Given the description of an element on the screen output the (x, y) to click on. 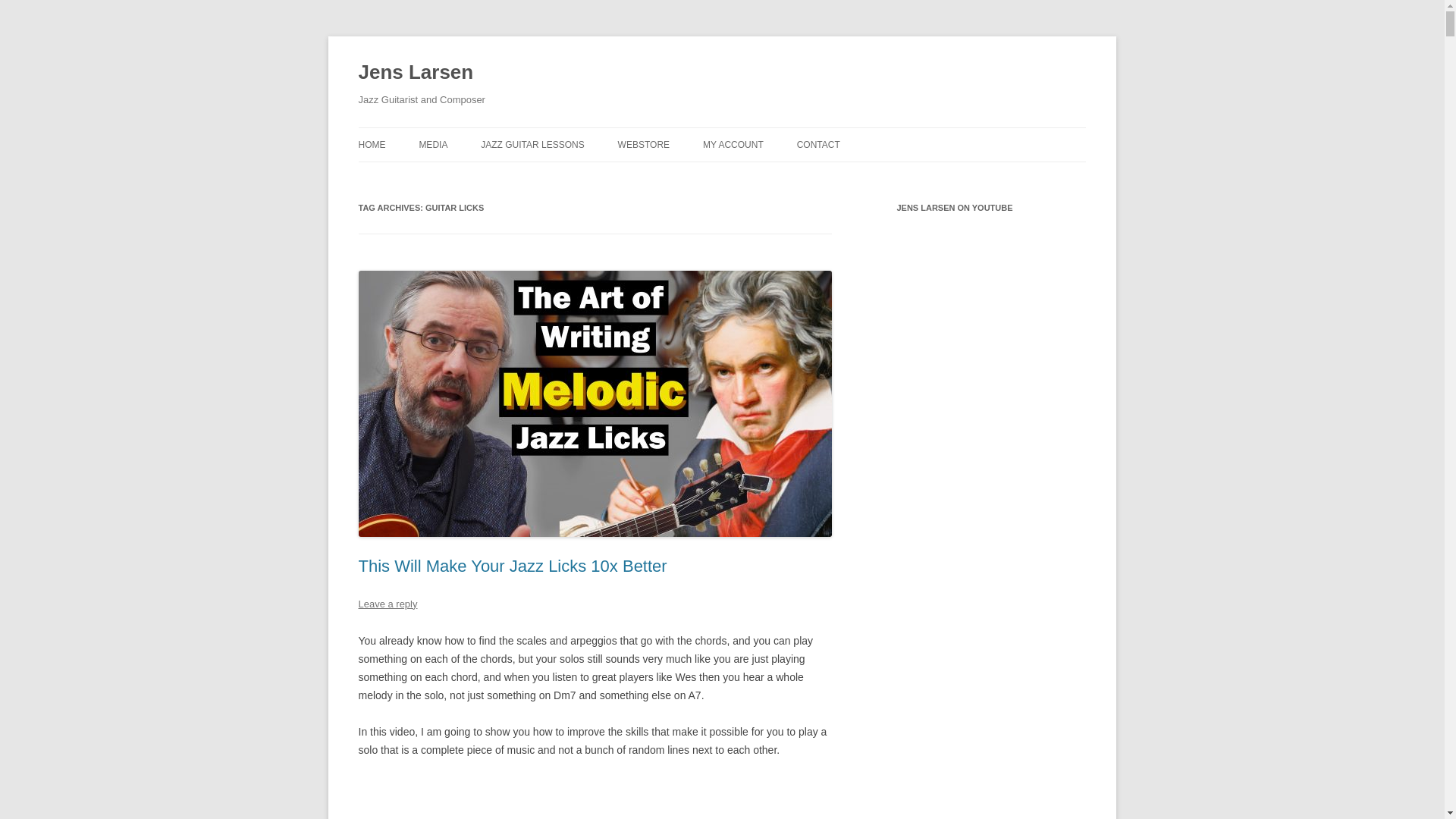
This Will Make Your Jazz Licks 10x Better (512, 565)
CART (778, 176)
CONTACT (818, 144)
MY ACCOUNT (732, 144)
Jens Larsen (415, 72)
This Will Make Your Jazz Licks 10x Better (594, 798)
ONLINE LESSONS (555, 176)
JAZZ GUITAR LESSONS (531, 144)
